Given the description of an element on the screen output the (x, y) to click on. 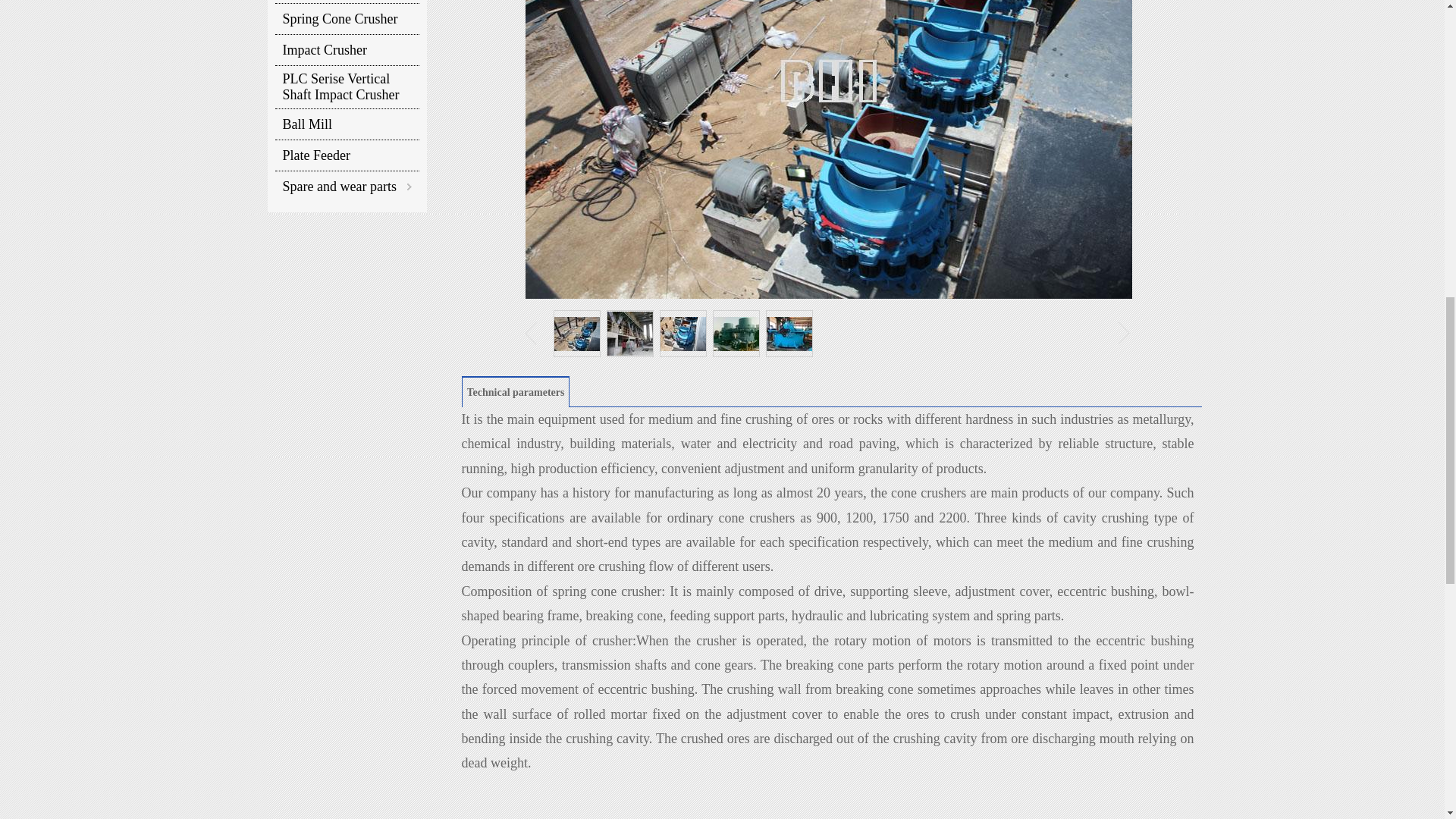
Spare and wear parts (340, 185)
H Serise Hydraulic Multi-Cylinder Cone Crusher (347, 1)
Ball Mill (347, 123)
Spring Cone Crusher (347, 18)
Plate Feeder (347, 155)
PLC Serise Vertical Shaft Impact Crusher (347, 87)
cone crusher (925, 493)
Impact Crusher (347, 49)
